Given the description of an element on the screen output the (x, y) to click on. 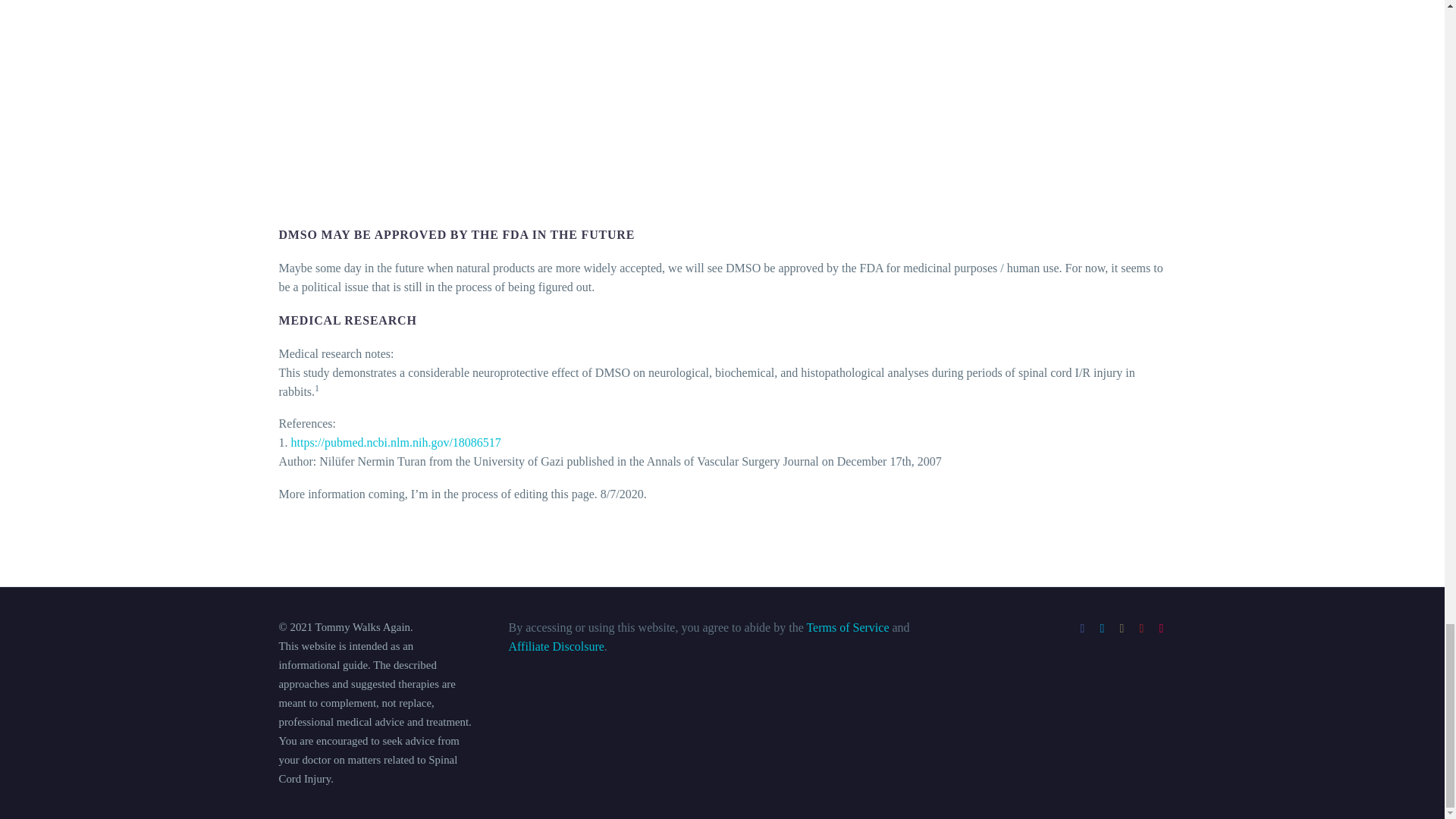
Twitter (1102, 628)
YouTube (1141, 628)
Instagram (1122, 628)
TikTok (1161, 628)
Facebook (1083, 628)
